Given the description of an element on the screen output the (x, y) to click on. 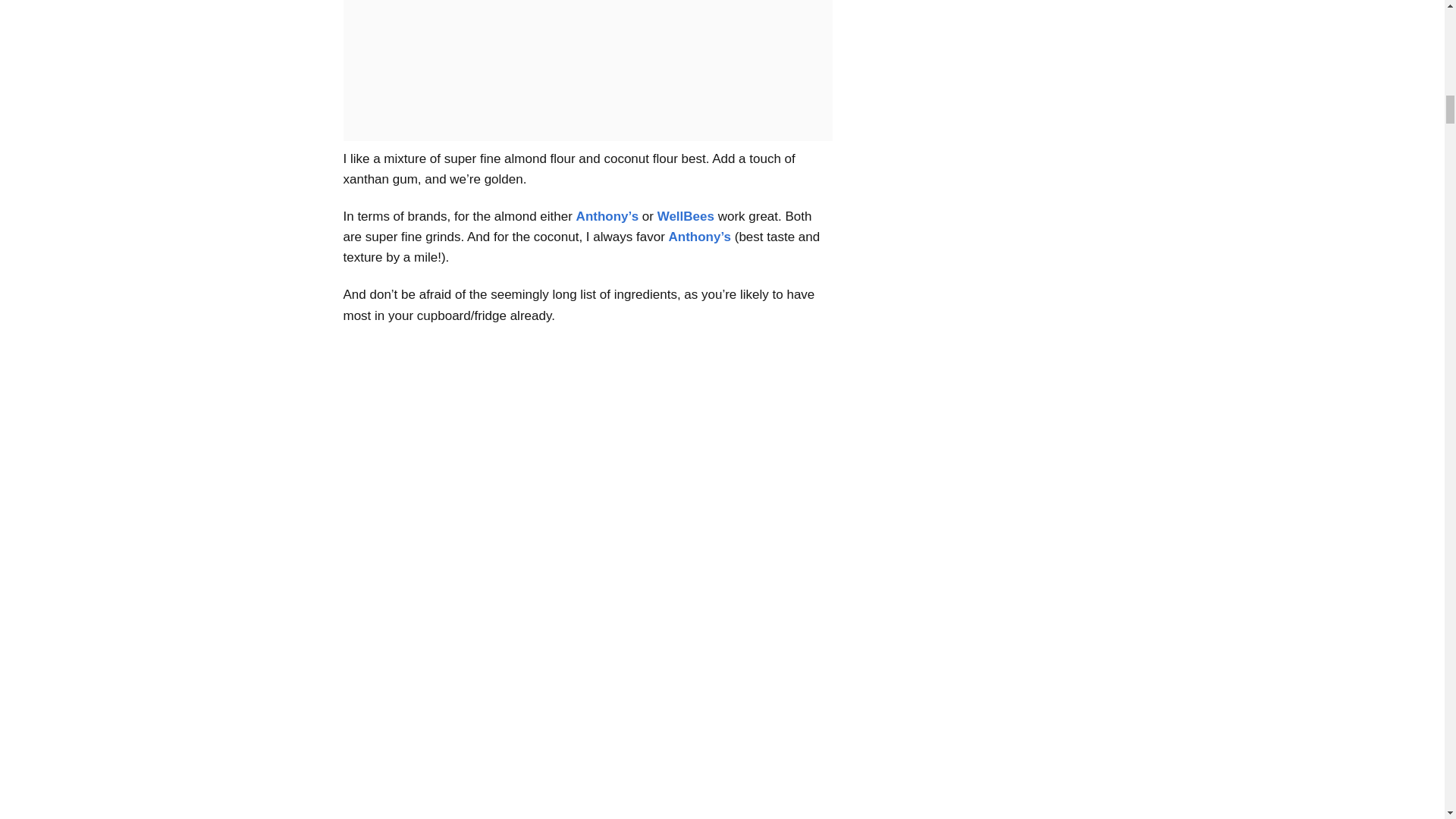
WellBees (686, 216)
